Given the description of an element on the screen output the (x, y) to click on. 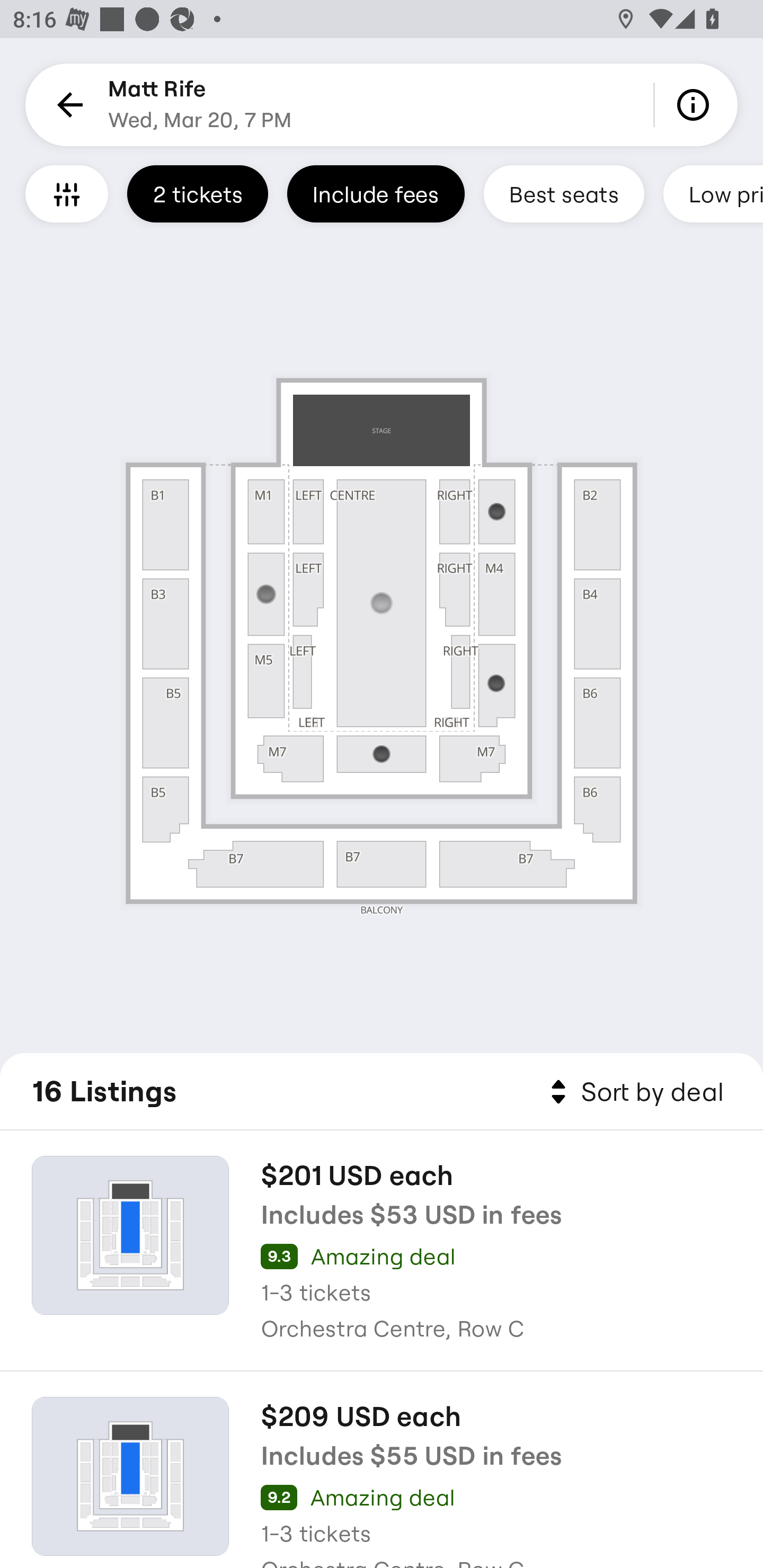
Back (66, 104)
Matt Rife Wed, Mar 20, 7 PM (200, 104)
Info (695, 104)
Filters and Accessible Seating (66, 193)
2 tickets (197, 193)
Include fees (375, 193)
Best seats (563, 193)
Low prices (713, 193)
Sort by deal (633, 1091)
